Given the description of an element on the screen output the (x, y) to click on. 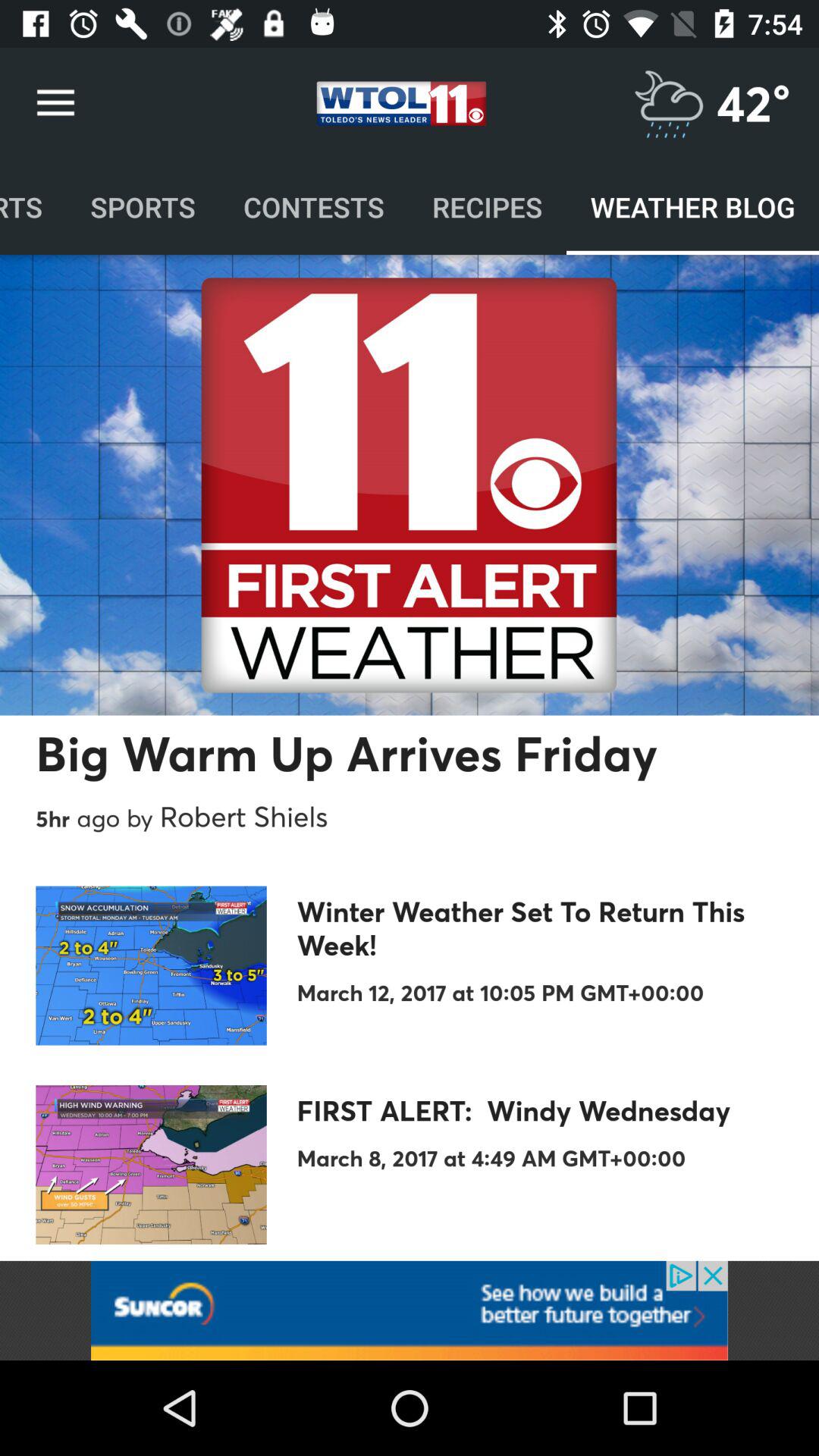
open advertisement (409, 1310)
